Given the description of an element on the screen output the (x, y) to click on. 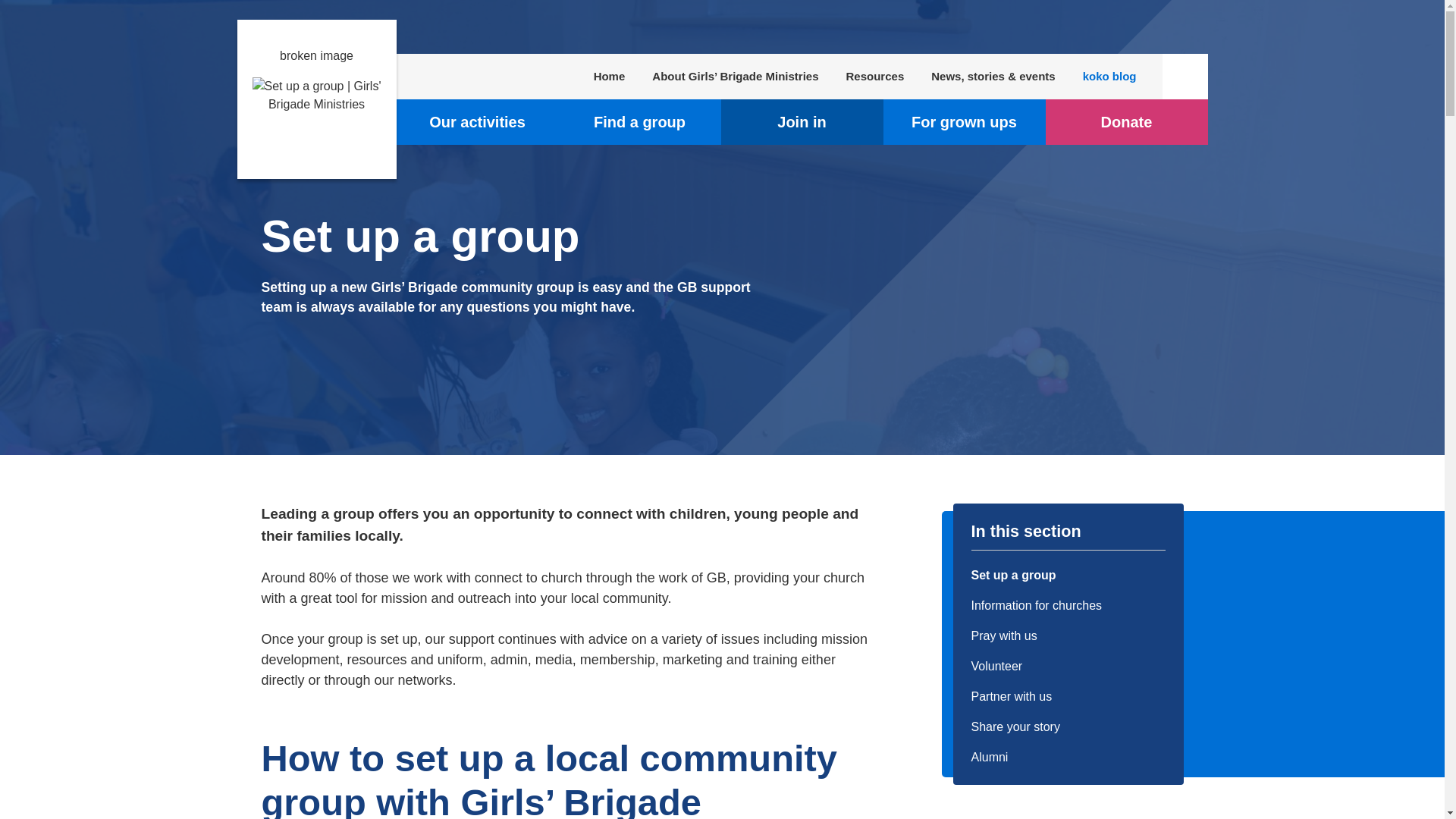
Our activities (476, 121)
Join in (801, 121)
Find a group (638, 121)
koko blog (1110, 76)
Donate (1126, 121)
For grown ups (963, 121)
Resources (874, 76)
